Given the description of an element on the screen output the (x, y) to click on. 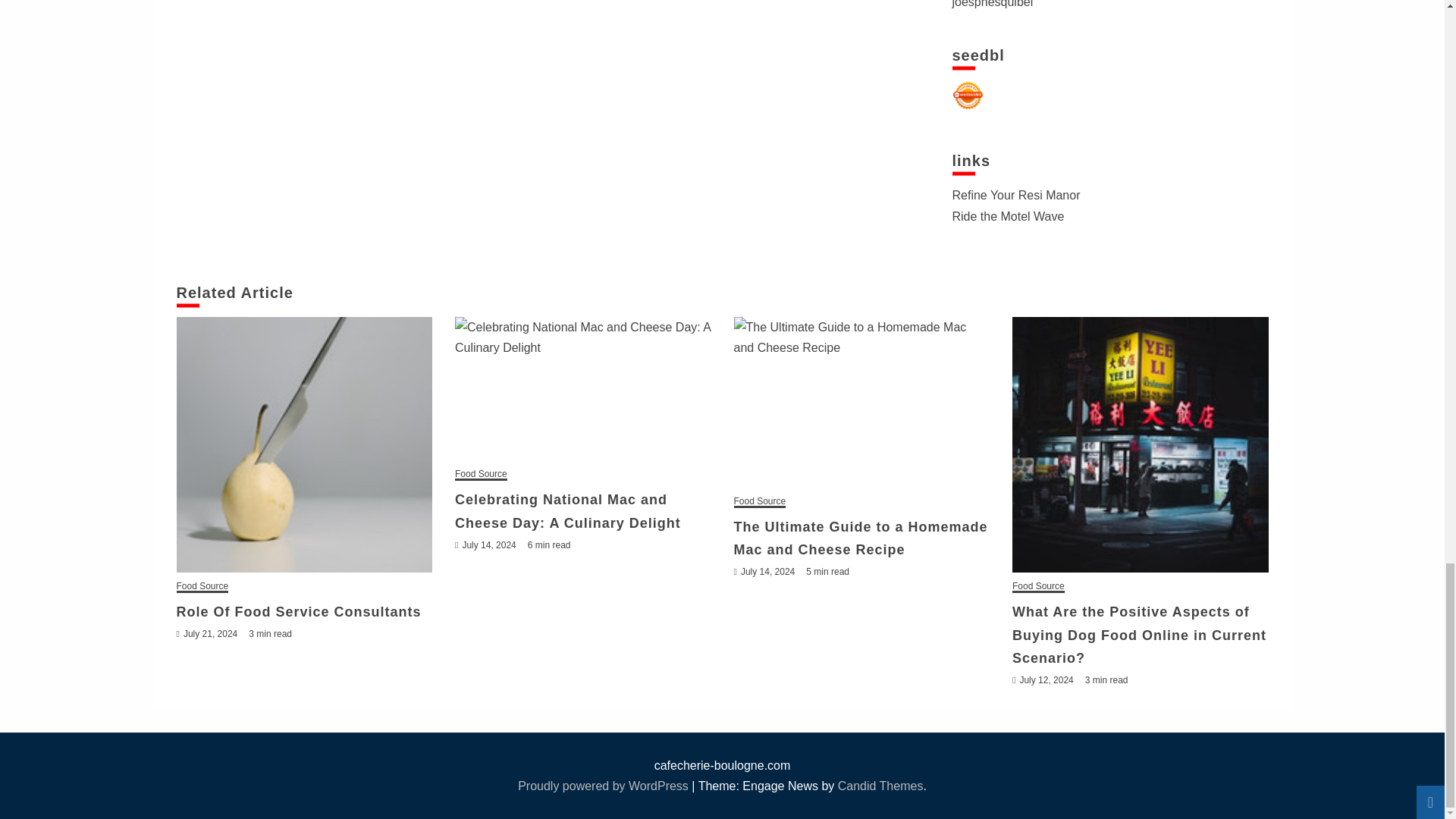
Role Of Food Service Consultants (304, 444)
Seedbacklink (968, 95)
The Ultimate Guide to a Homemade Mac and Cheese Recipe (861, 401)
Celebrating National Mac and Cheese Day: A Culinary Delight (582, 388)
